Given the description of an element on the screen output the (x, y) to click on. 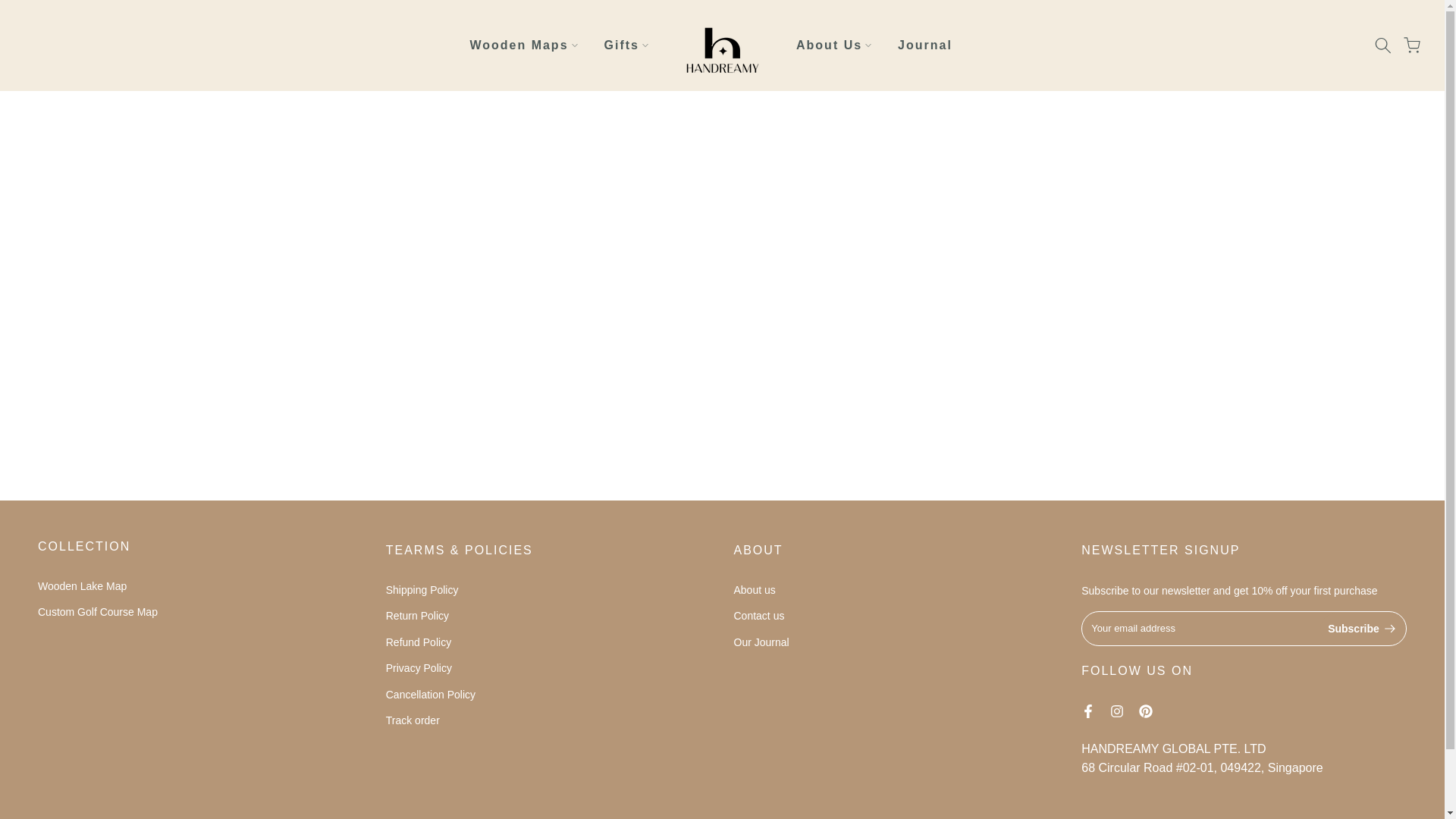
About Us (833, 45)
Contact us (758, 615)
Cancellation Policy (430, 694)
Gifts (626, 45)
Privacy Policy (418, 667)
Wooden Maps (524, 45)
Subscribe (1362, 628)
Journal (925, 45)
Custom Golf Course Map (97, 612)
Track order (412, 720)
Skip to content (10, 7)
Wooden Lake Map (81, 585)
Refund Policy (418, 642)
Shipping Policy (421, 589)
Return Policy (416, 615)
